Given the description of an element on the screen output the (x, y) to click on. 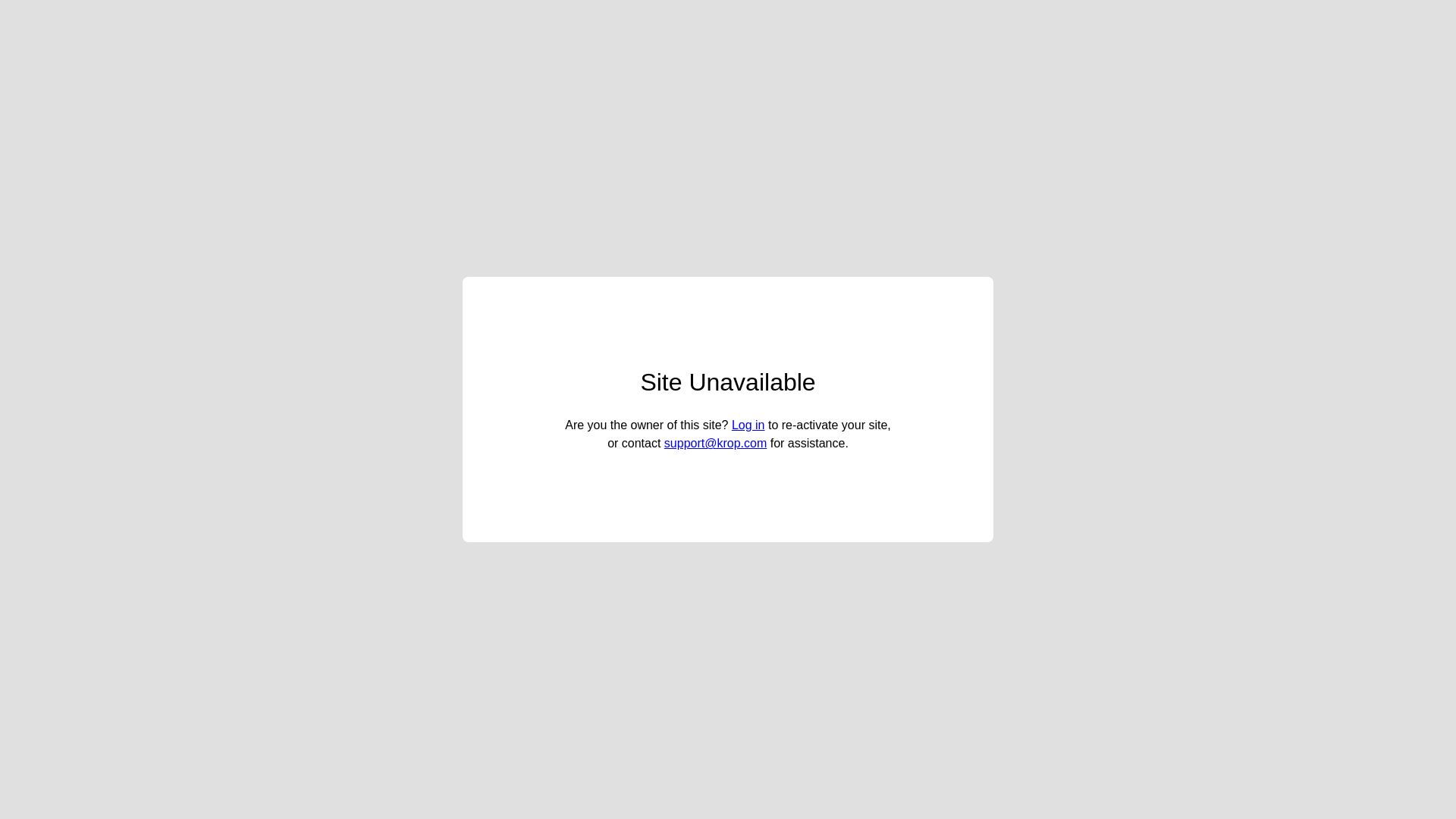
support@krop.com Element type: text (715, 442)
Log in Element type: text (748, 424)
